Given the description of an element on the screen output the (x, y) to click on. 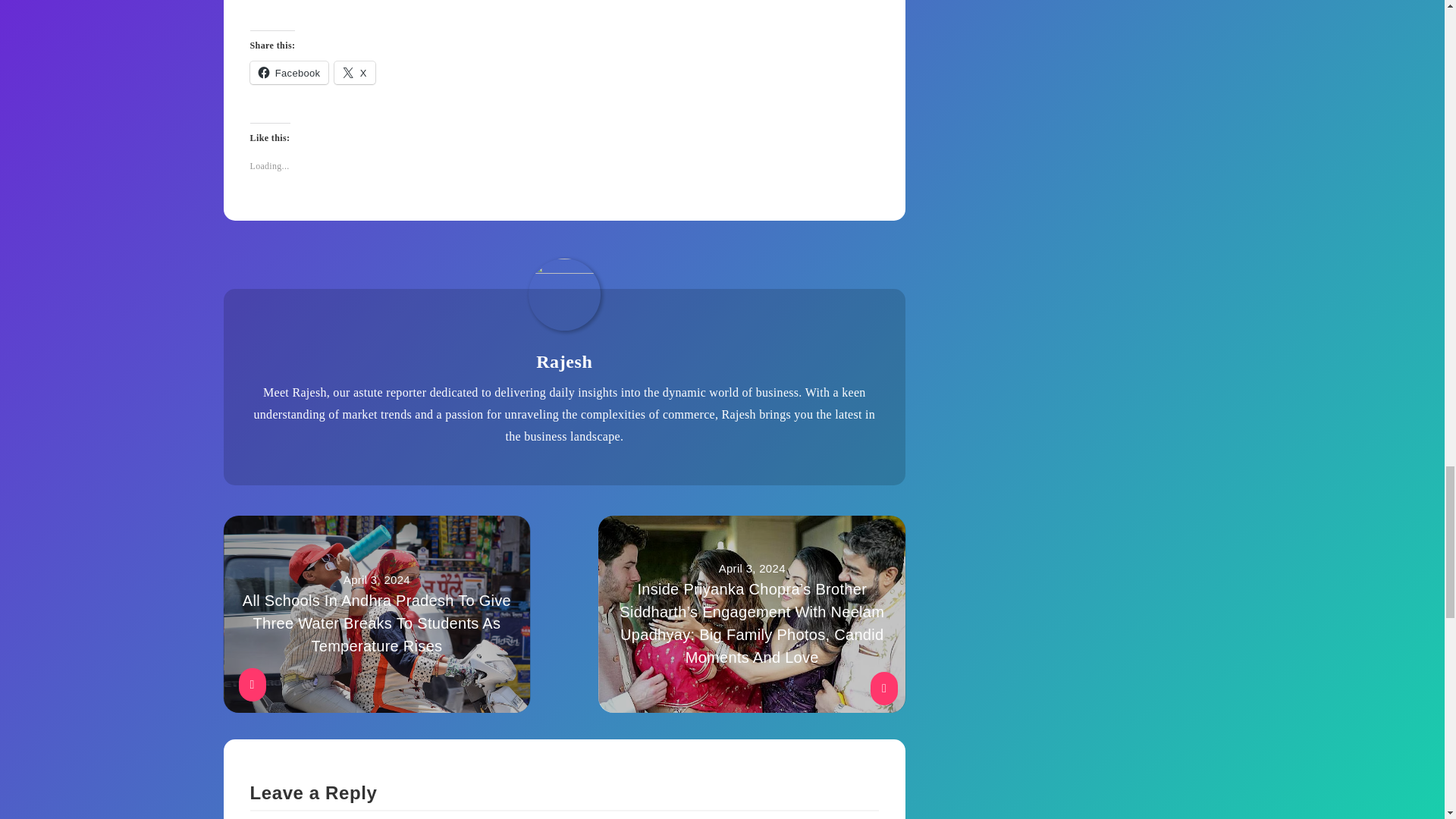
Facebook (289, 72)
Rajesh (563, 361)
Click to share on Facebook (289, 72)
X (354, 72)
Click to share on X (354, 72)
